Given the description of an element on the screen output the (x, y) to click on. 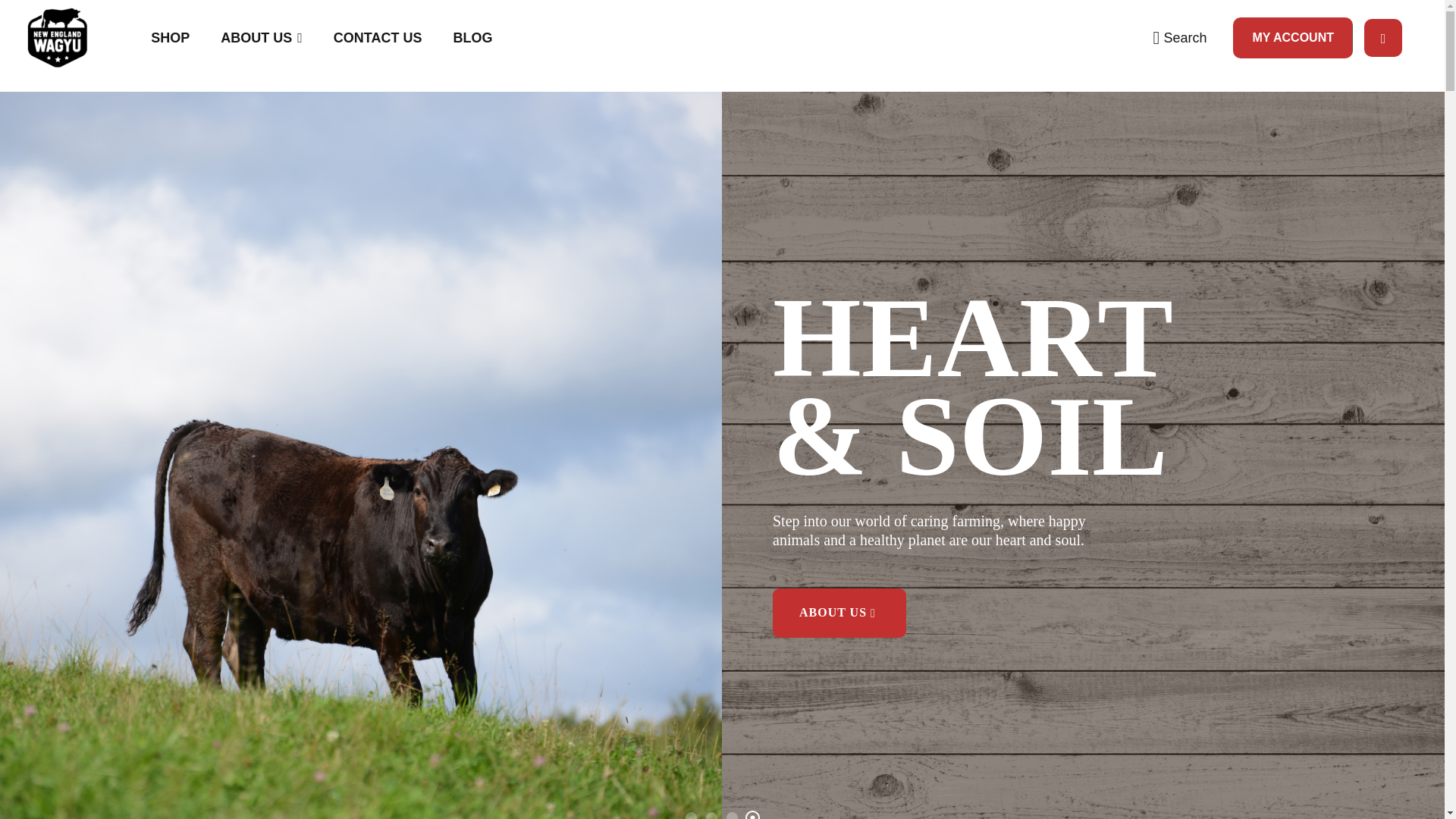
ABOUT US (839, 613)
BLOG (472, 38)
MY ACCOUNT (1292, 37)
SHOP (169, 38)
CONTACT US (377, 38)
Search (1180, 37)
ABOUT US (260, 38)
View your shopping cart (1383, 38)
